Given the description of an element on the screen output the (x, y) to click on. 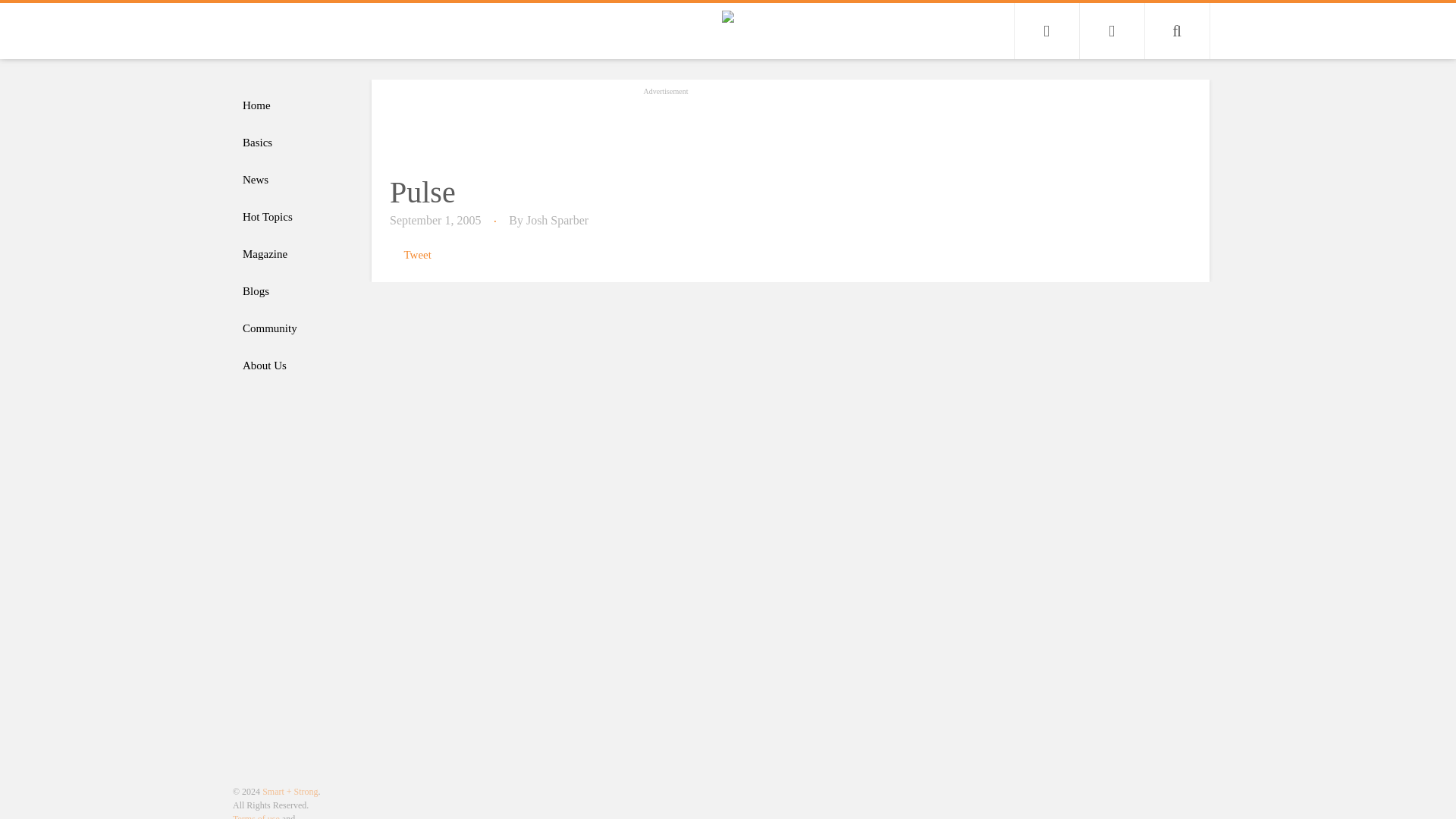
Basics (294, 142)
News (294, 180)
Home (294, 105)
